Given the description of an element on the screen output the (x, y) to click on. 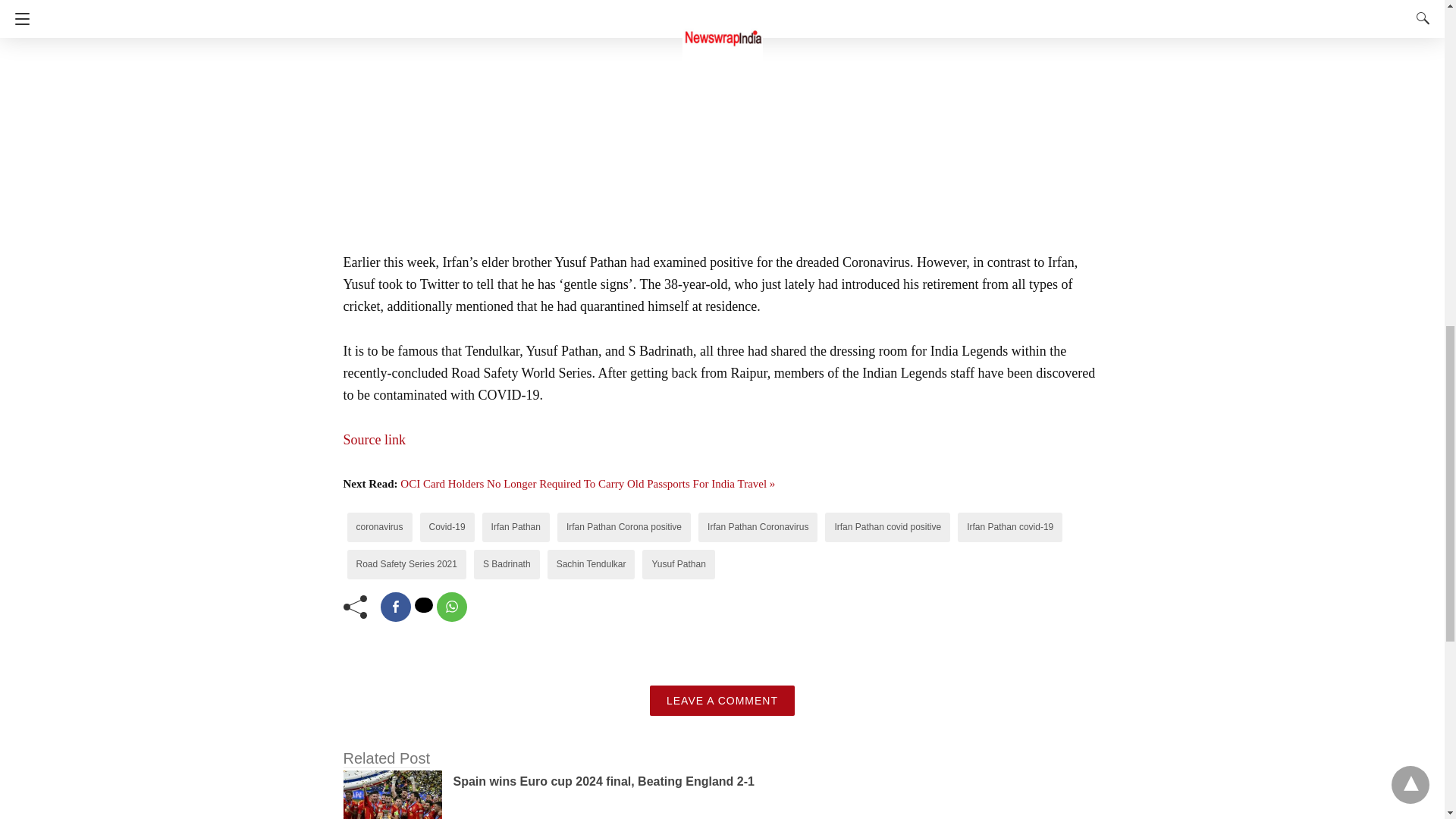
whatsapp share (451, 606)
Sachin Tendulkar (591, 563)
S Badrinath (507, 563)
Irfan Pathan Corona positive (623, 526)
Irfan Pathan (516, 526)
Irfan Pathan Coronavirus (757, 526)
Source link (374, 439)
Irfan Pathan covid positive (887, 526)
Covid-19 (447, 526)
